Given the description of an element on the screen output the (x, y) to click on. 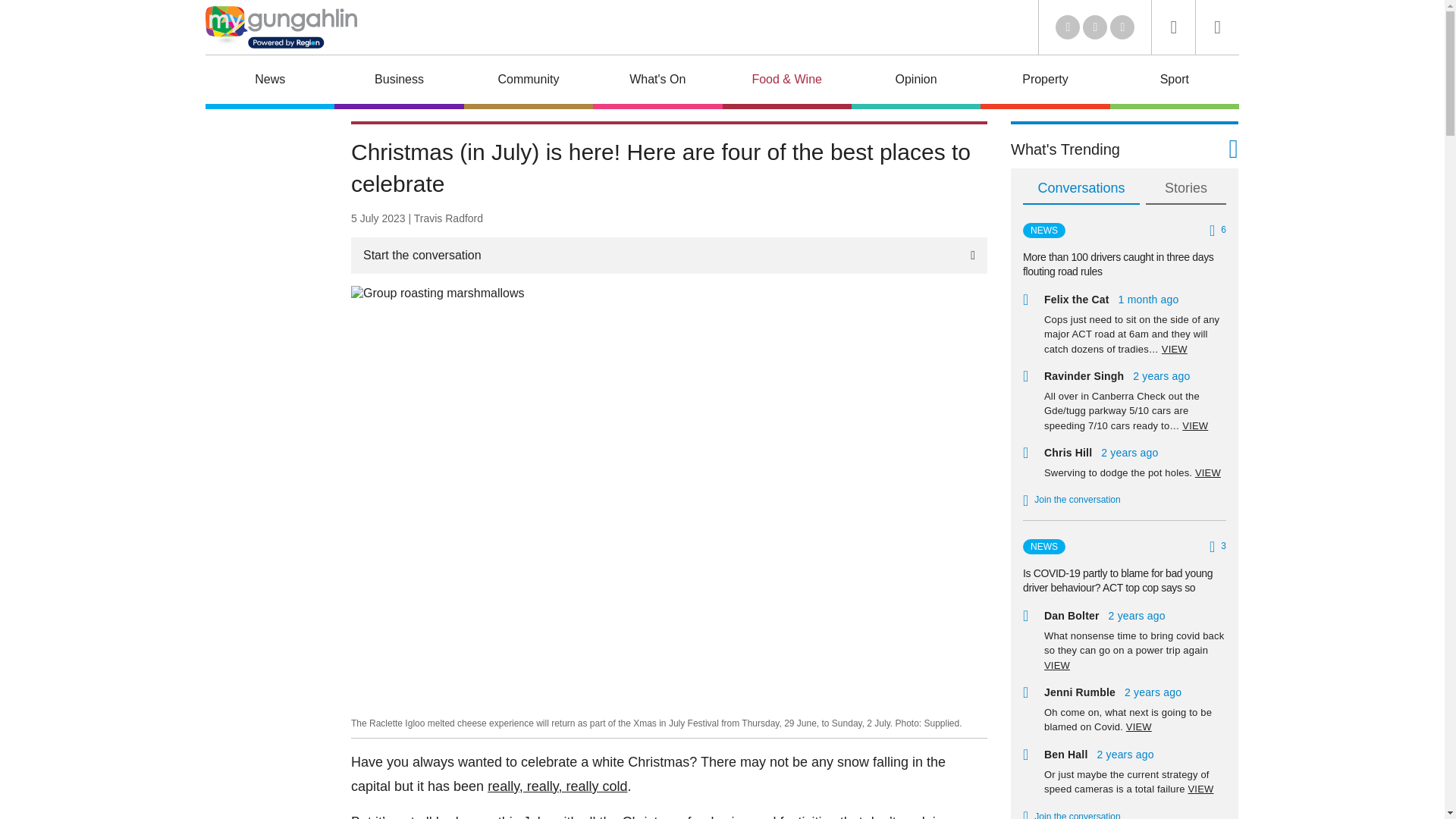
Business (398, 81)
Twitter (1067, 27)
Community (528, 81)
My Gungahlin Home (280, 26)
Instagram (1121, 27)
News (269, 81)
Facebook (1094, 27)
